Given the description of an element on the screen output the (x, y) to click on. 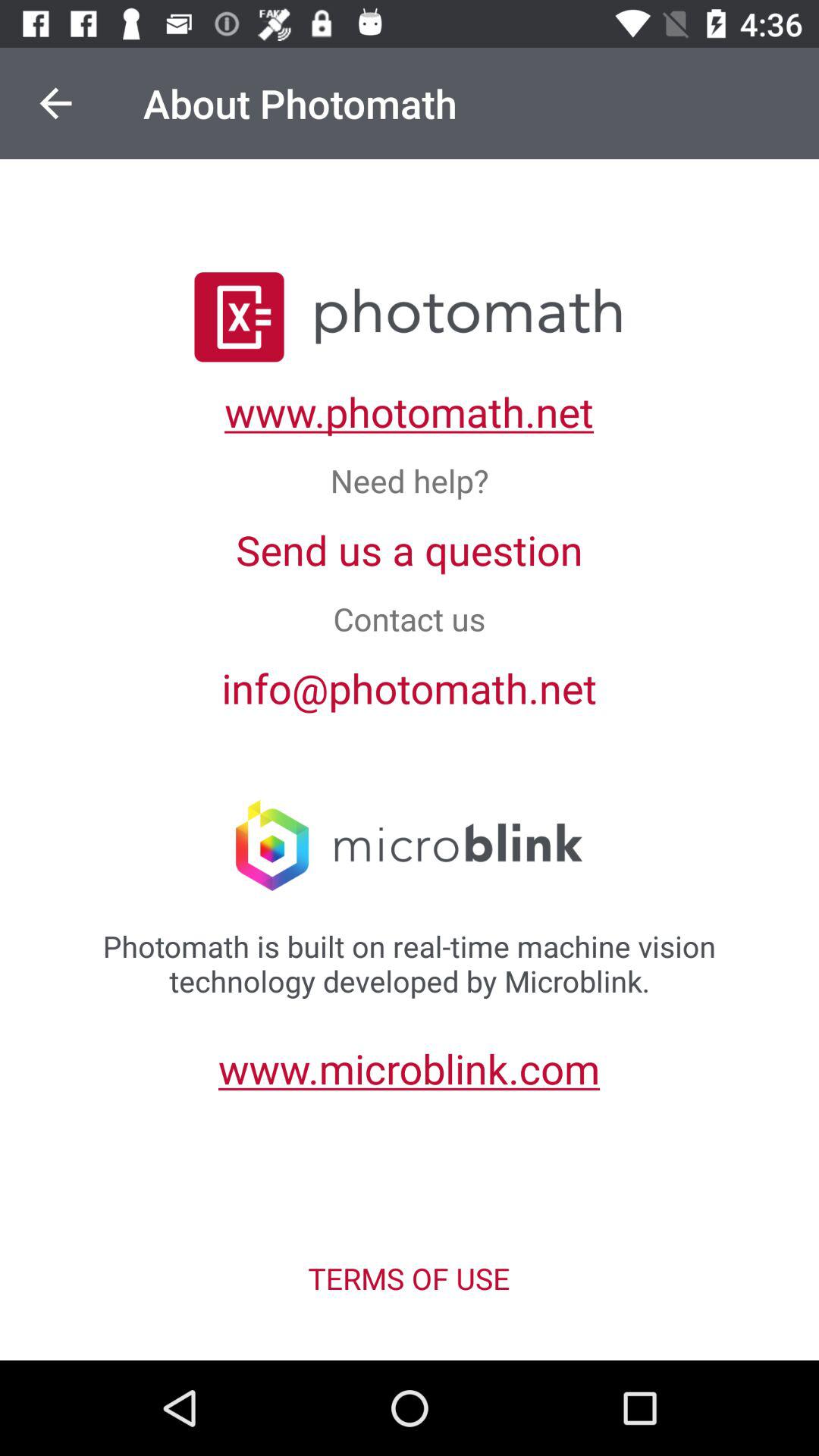
click icon next to about photomath (55, 103)
